Given the description of an element on the screen output the (x, y) to click on. 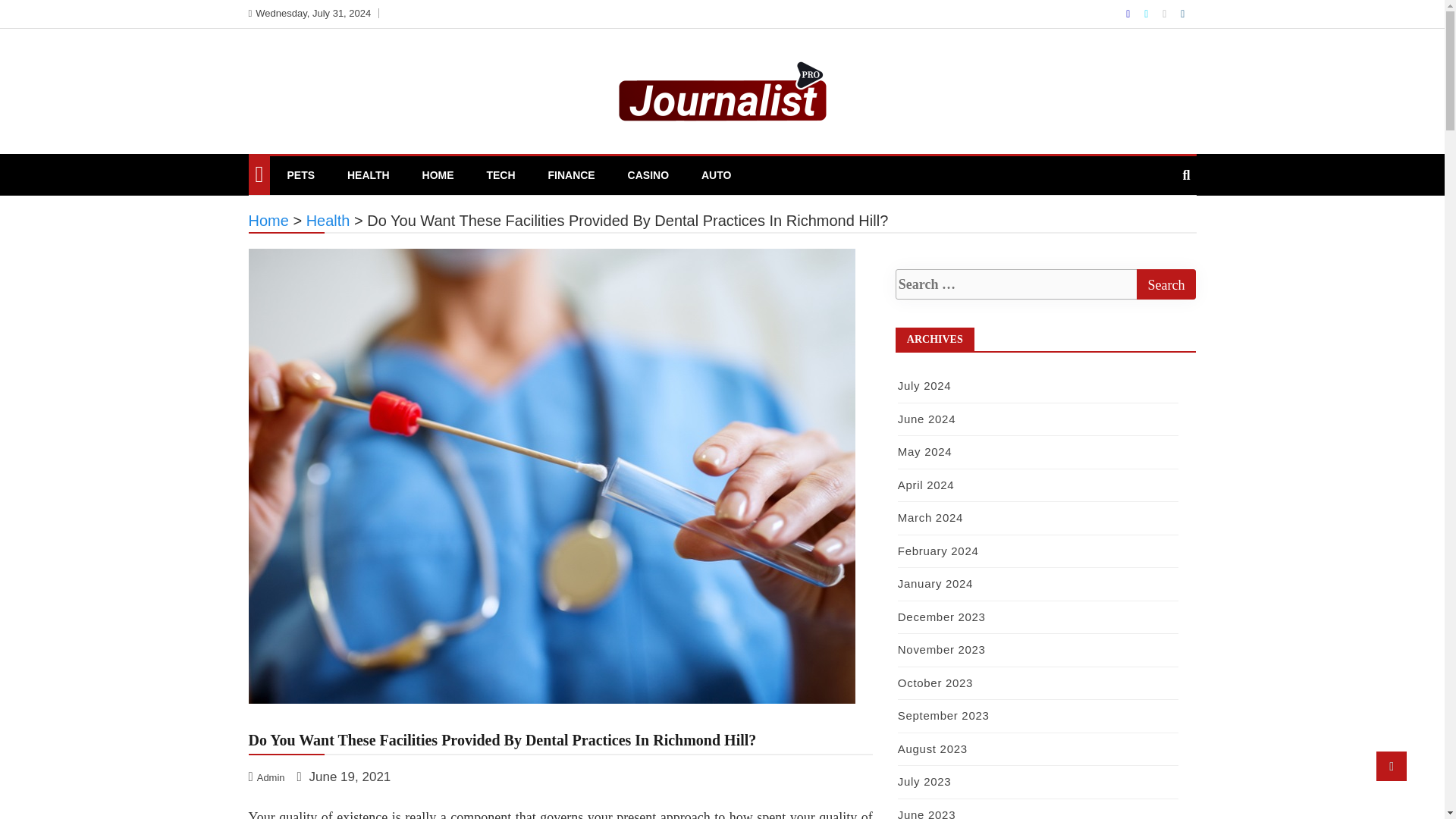
July 2024 (925, 385)
Twitter (1147, 13)
February 2024 (938, 550)
Search (1165, 284)
May 2024 (925, 451)
Facebook (1128, 13)
December 2023 (941, 615)
October 2023 (935, 682)
PETS (300, 175)
June 2024 (926, 418)
Journalist PRO (339, 155)
Go to Home. (268, 220)
Admin (268, 776)
HEALTH (368, 175)
November 2023 (941, 649)
